Given the description of an element on the screen output the (x, y) to click on. 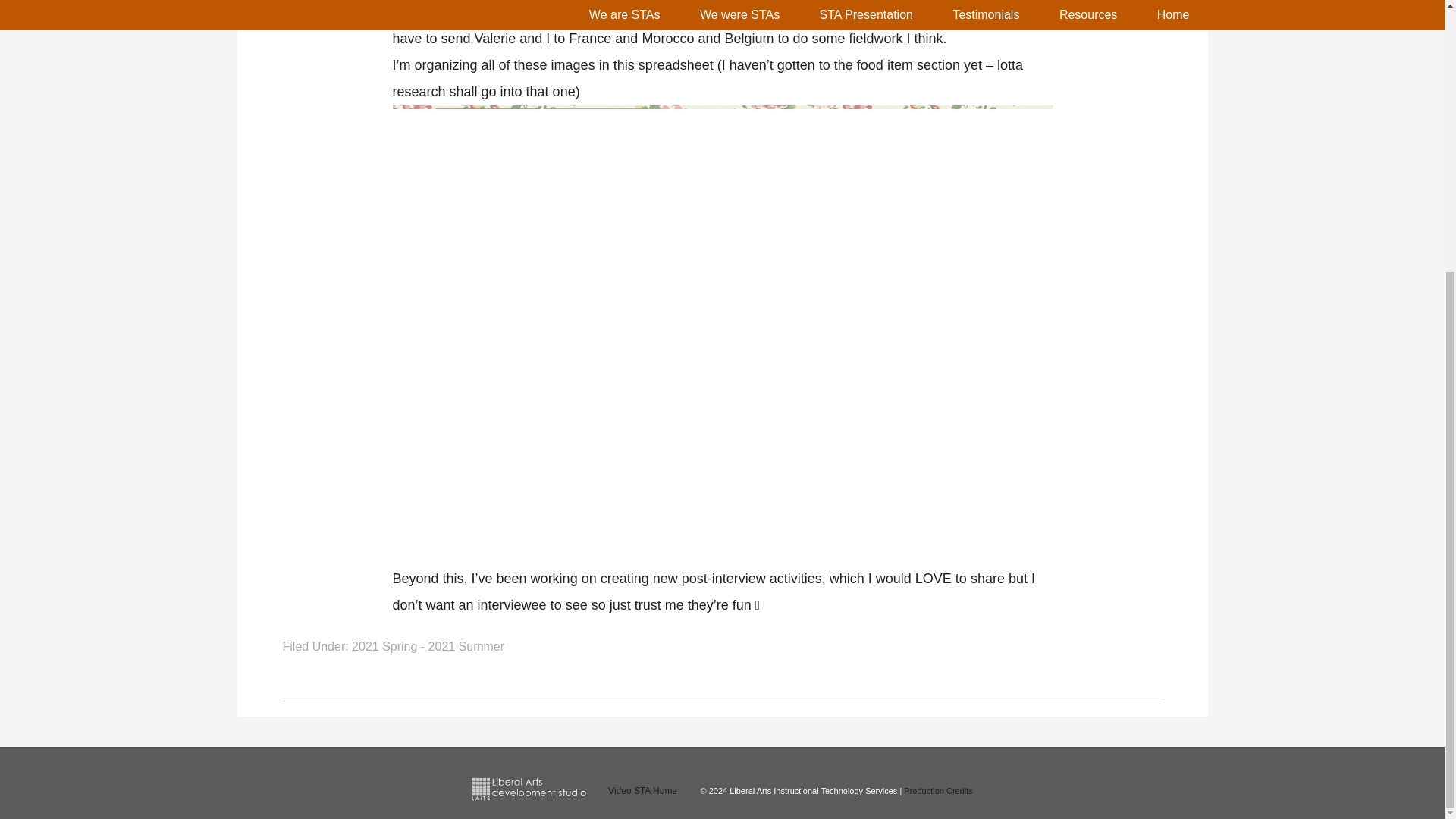
Production Credits (938, 790)
Video STA Home (642, 790)
2021 Spring - 2021 Summer (427, 645)
